Given the description of an element on the screen output the (x, y) to click on. 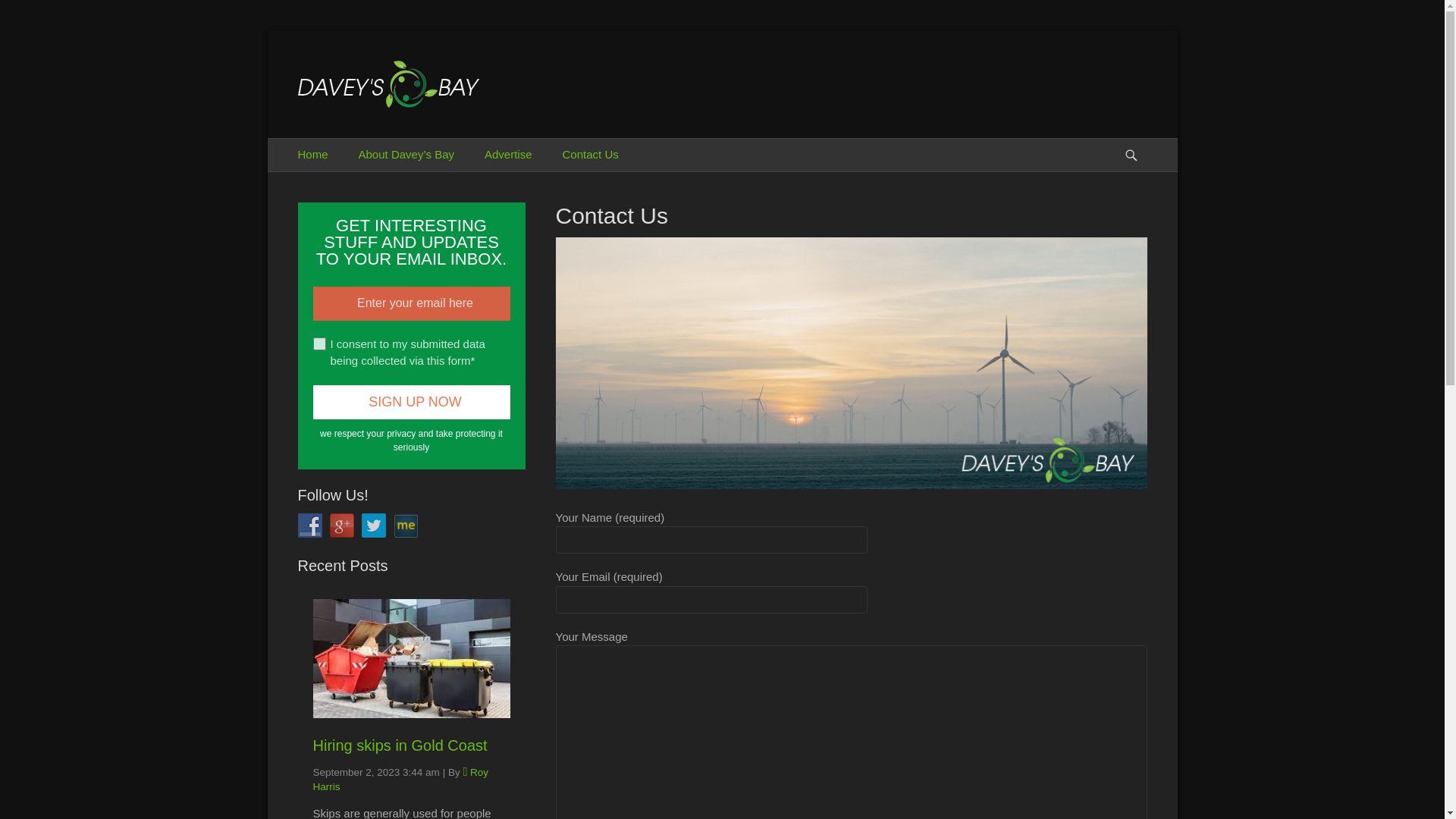
Sign Up Now Element type: text (410, 402)
Roy Harris Element type: text (400, 779)
Search Element type: text (1137, 138)
Home Element type: text (312, 154)
Follow Us on Google+ Element type: hover (341, 524)
Contact Us Element type: text (590, 154)
Follow Us on Facebook Element type: hover (309, 524)
Advertise Element type: text (508, 154)
Hiring skips in Gold Coast Element type: text (399, 745)
Follow Us on Twitter Element type: hover (372, 524)
Follow Us on About.me Element type: hover (404, 524)
Davey's Bay Element type: text (385, 78)
